Given the description of an element on the screen output the (x, y) to click on. 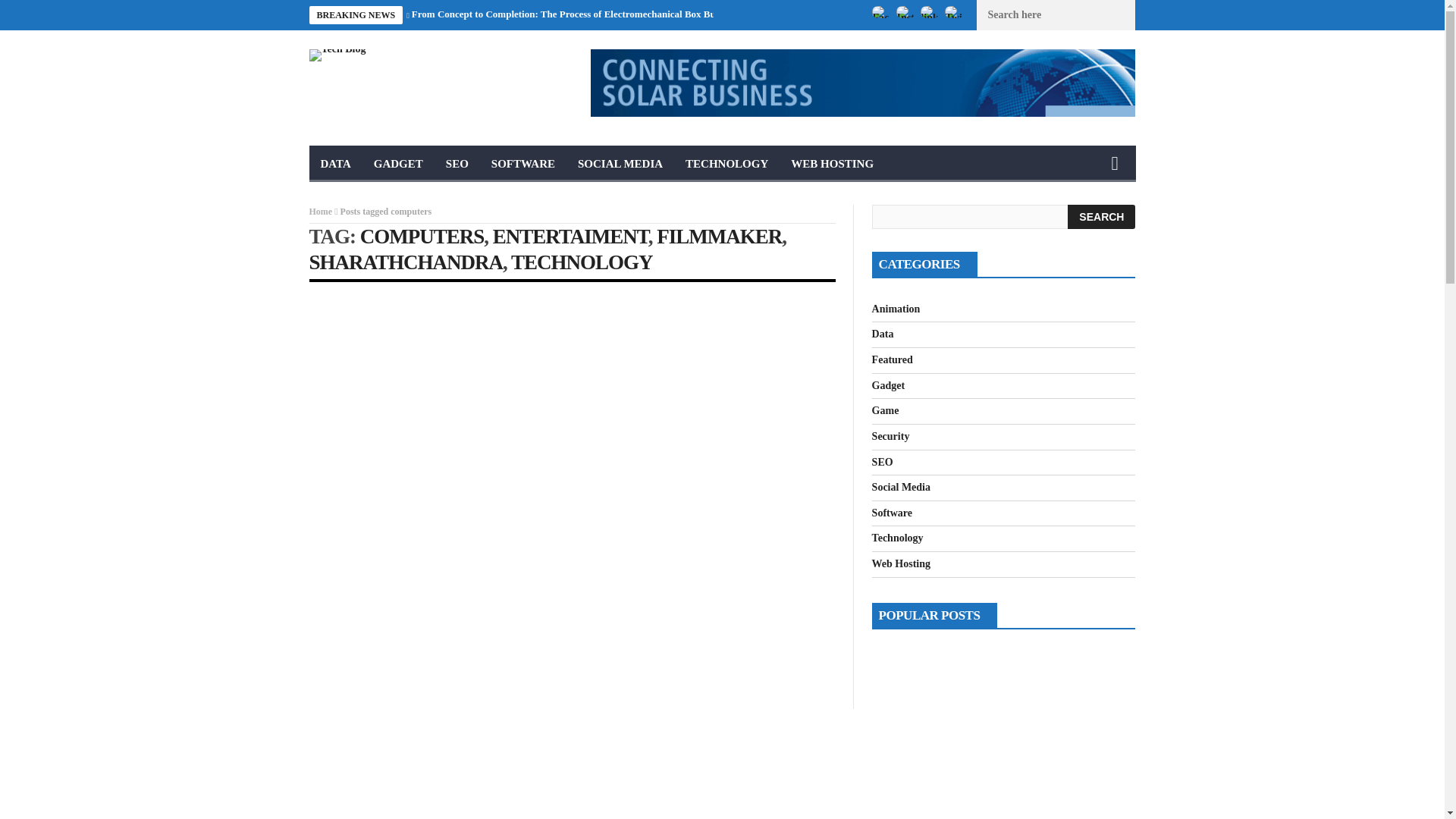
DATA (335, 163)
COMPUTERS (421, 236)
GADGET (397, 163)
SOFTWARE (523, 163)
SEO (456, 163)
Search (1101, 216)
FILMMAKER (718, 236)
TECHNOLOGY (581, 261)
ENTERTAIMENT (570, 236)
SOCIAL MEDIA (620, 163)
